Given the description of an element on the screen output the (x, y) to click on. 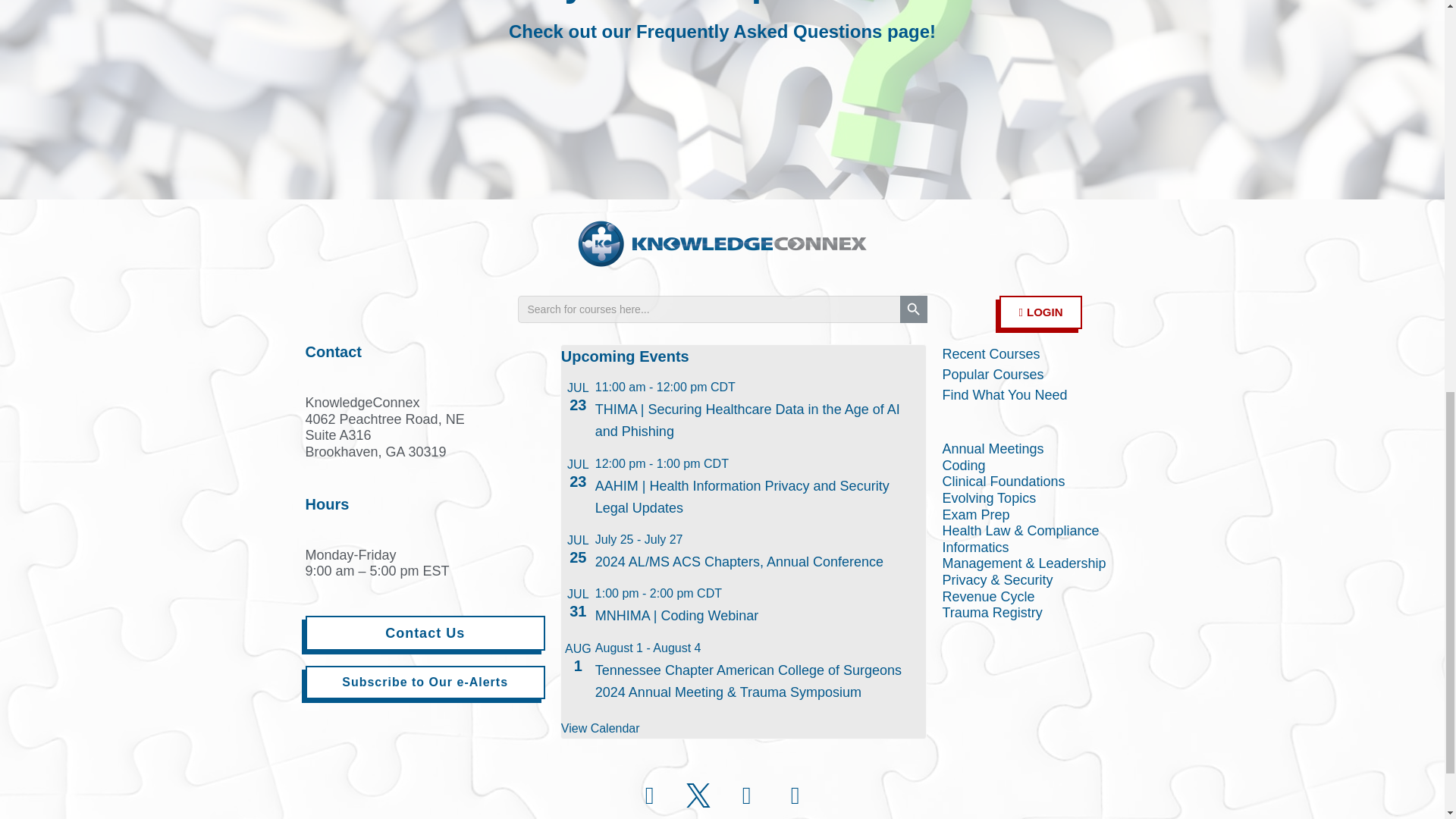
KC-logo-2020 (721, 243)
View more events. (600, 728)
